Given the description of an element on the screen output the (x, y) to click on. 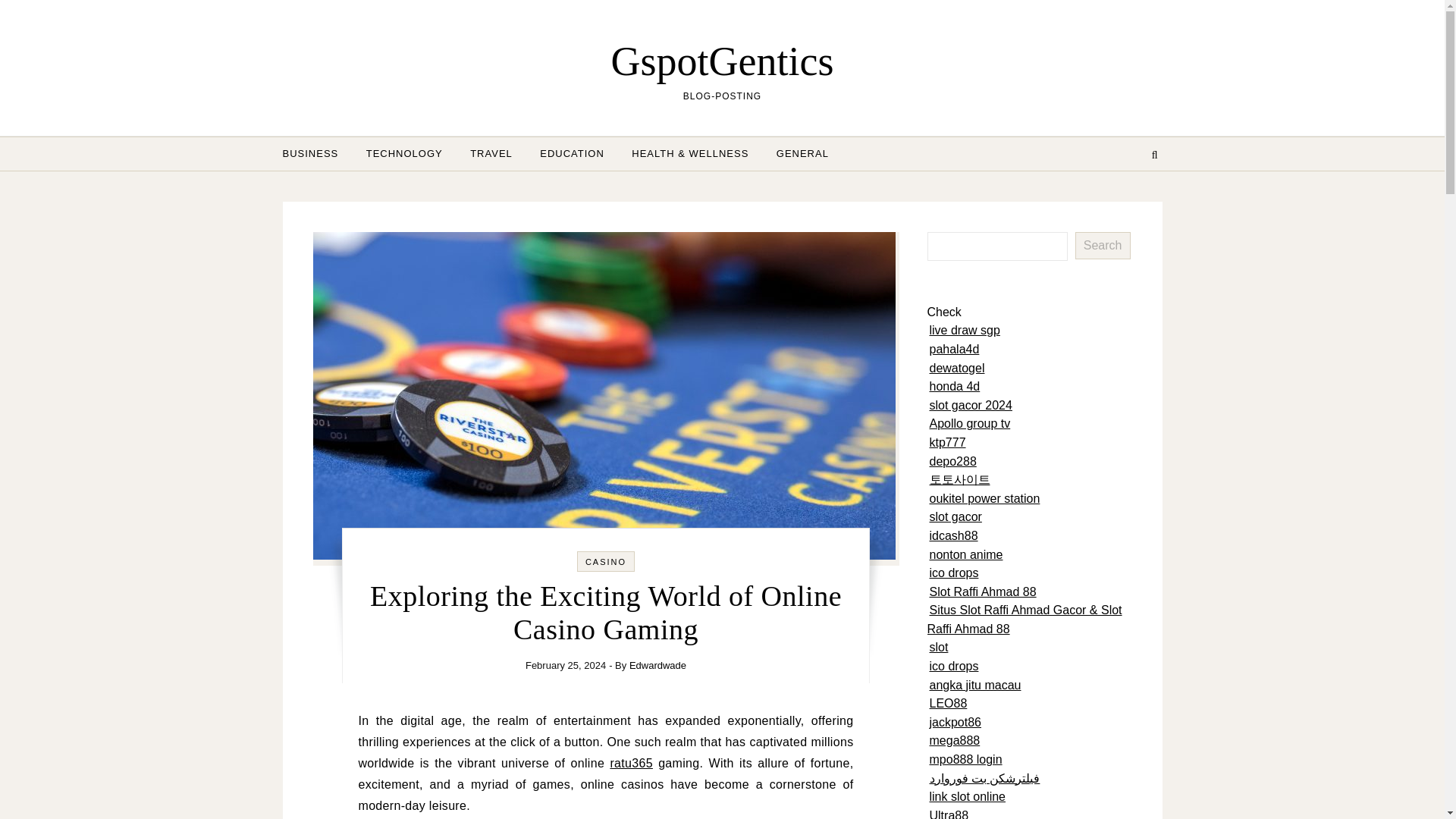
ratu365 (631, 762)
Posts by Edwardwade (656, 665)
GspotGentics (722, 61)
CASINO (605, 561)
pahala4d (954, 349)
Apollo group tv (970, 422)
TECHNOLOGY (403, 153)
dewatogel (957, 367)
BUSINESS (316, 153)
live draw sgp (965, 329)
TRAVEL (491, 153)
EDUCATION (571, 153)
honda 4d (954, 386)
Edwardwade (656, 665)
GENERAL (796, 153)
